Given the description of an element on the screen output the (x, y) to click on. 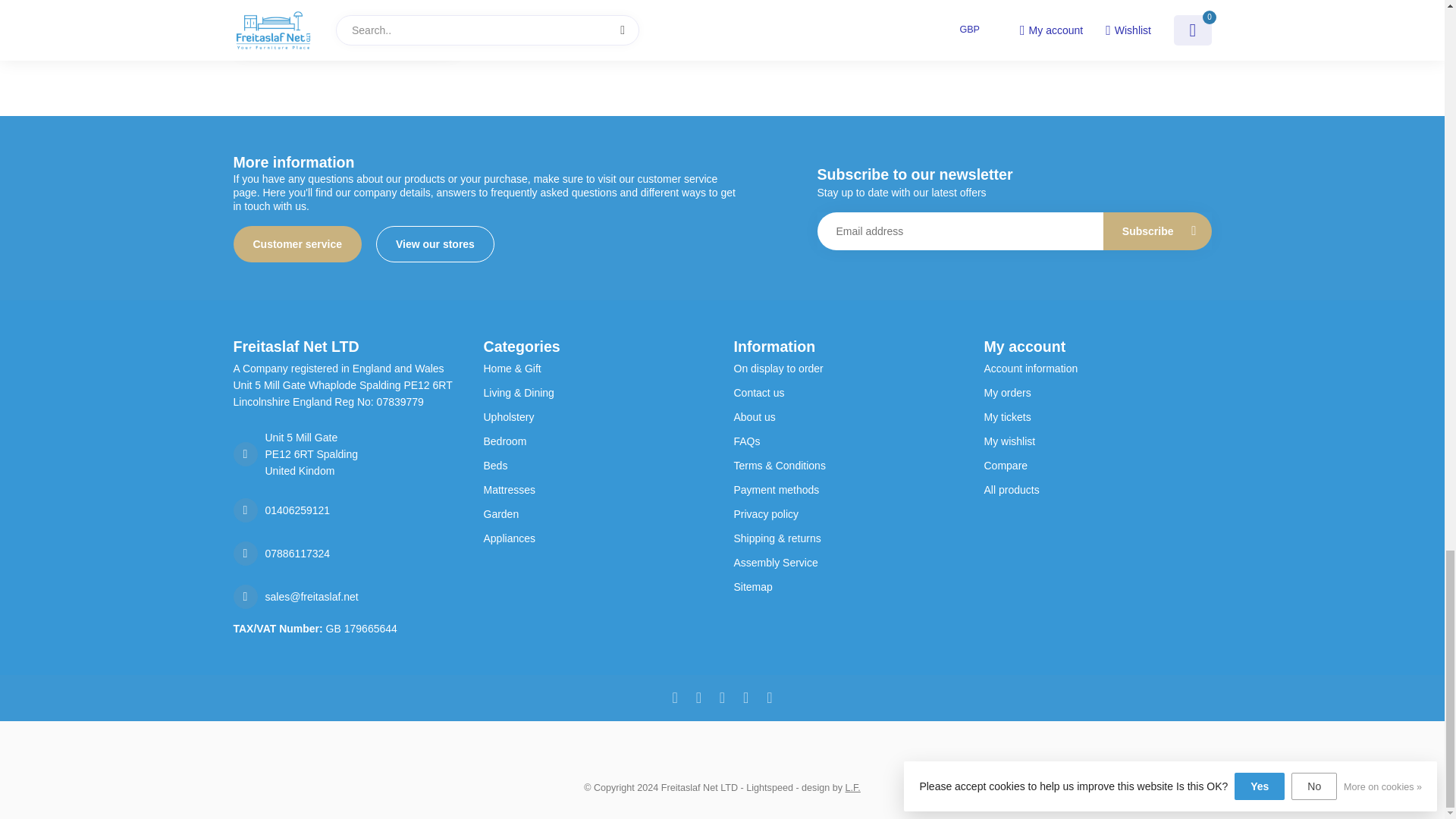
Sitemap (846, 586)
FAQs (846, 441)
1 (387, 28)
On display to order (846, 368)
About us (846, 416)
Assembly Service (846, 562)
Privacy policy (846, 514)
Contact us (846, 392)
Payment methods (846, 489)
